Given the description of an element on the screen output the (x, y) to click on. 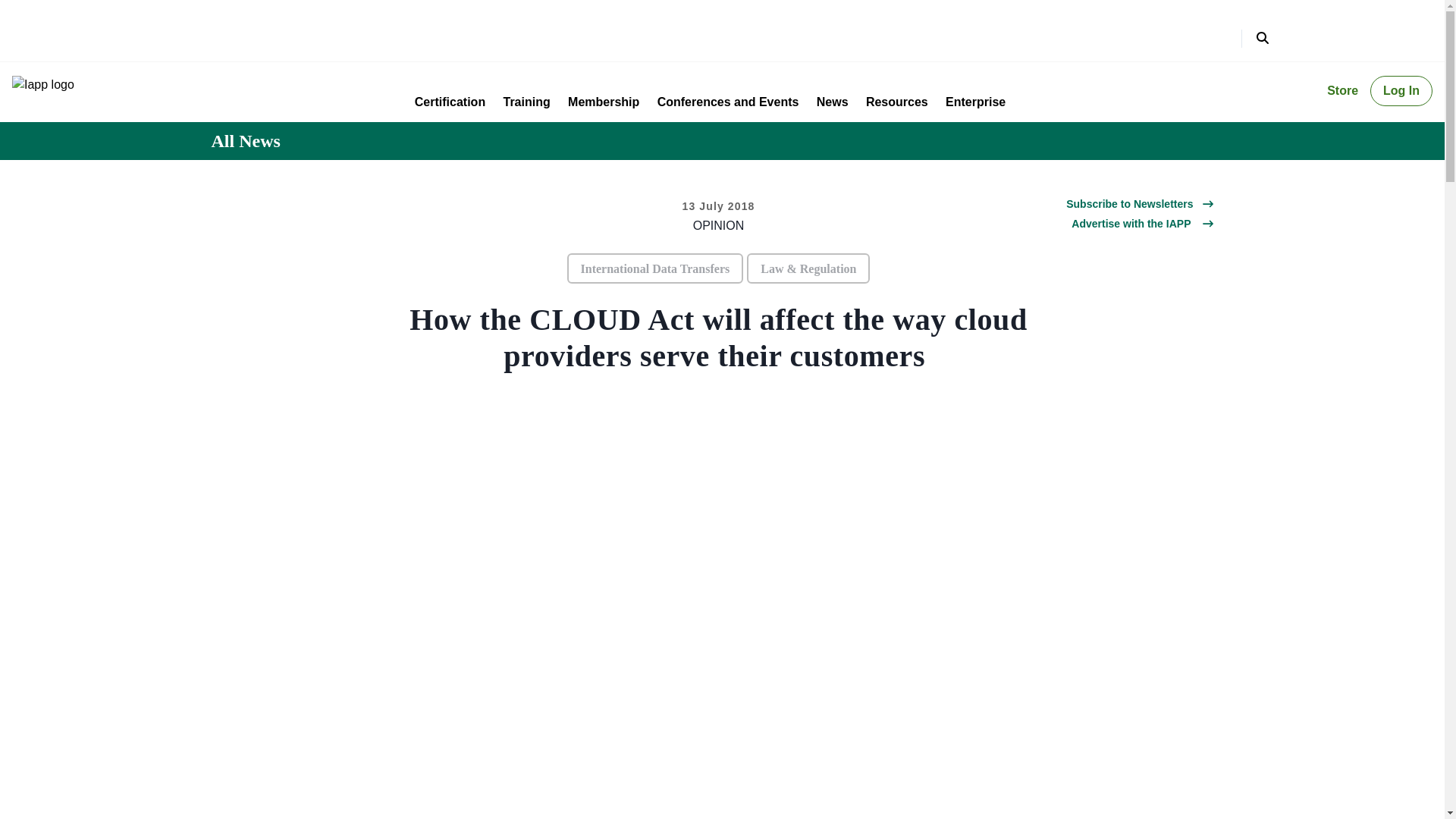
Certification (449, 102)
Advertise with the IAPP (1131, 223)
Subscribe to Newsletters (1128, 203)
Conferences and Events (728, 102)
Store (1342, 90)
Resources (897, 102)
Skip to Content (19, 13)
Log In (1401, 91)
Membership (603, 102)
All News (245, 140)
